Given the description of an element on the screen output the (x, y) to click on. 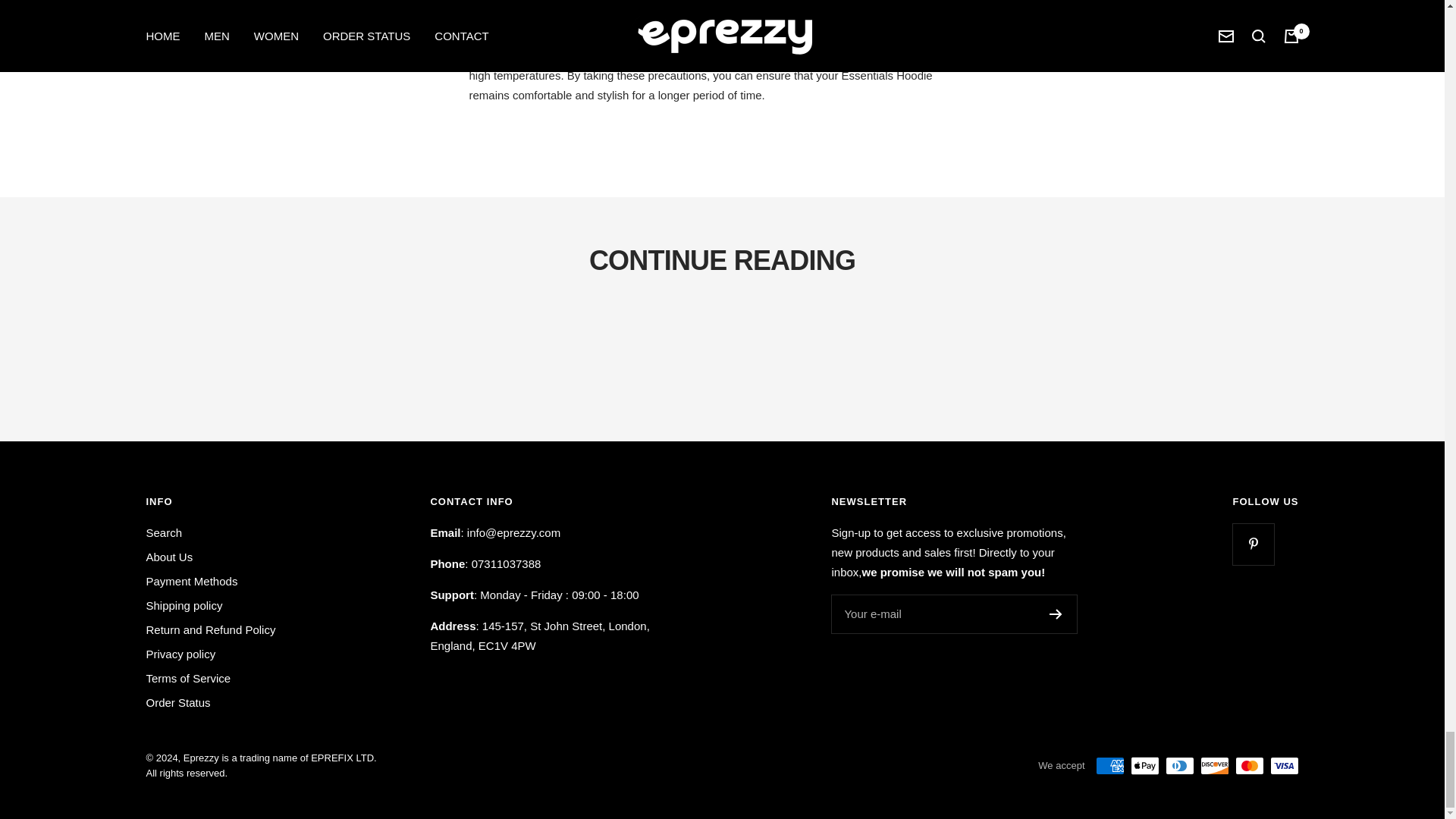
Search (163, 532)
Register (1055, 614)
About Us (168, 557)
Return and Refund Policy (210, 629)
Payment Methods (191, 581)
Shipping policy (183, 605)
